Given the description of an element on the screen output the (x, y) to click on. 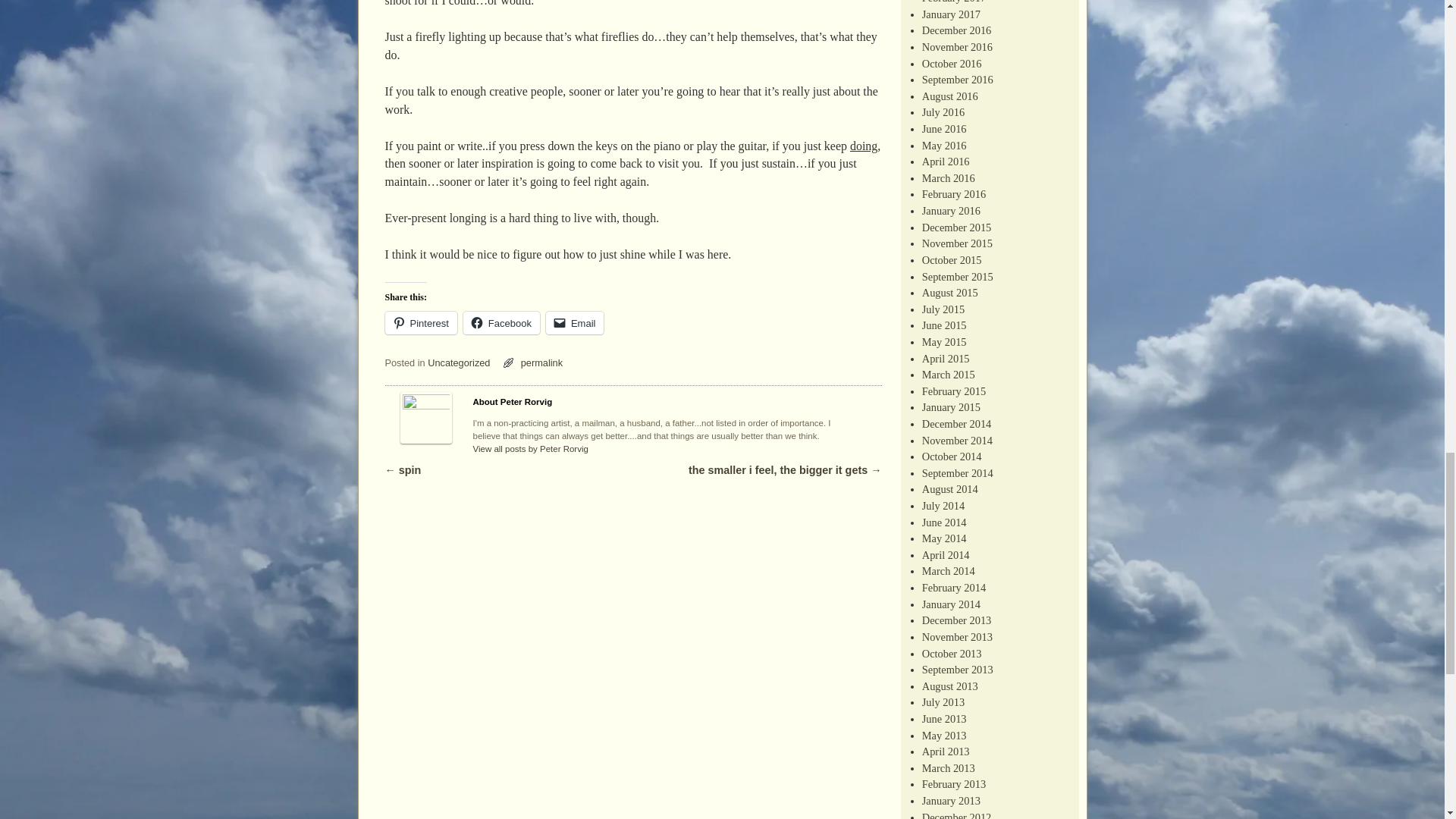
Facebook (501, 323)
Email (575, 323)
View all posts by Peter Rorvig (530, 448)
Pinterest (421, 323)
Click to email a link to a friend (575, 323)
Click to share on Pinterest (421, 323)
Permalink to falling stars (541, 362)
Click to share on Facebook (501, 323)
Uncategorized (458, 362)
permalink (541, 362)
